Given the description of an element on the screen output the (x, y) to click on. 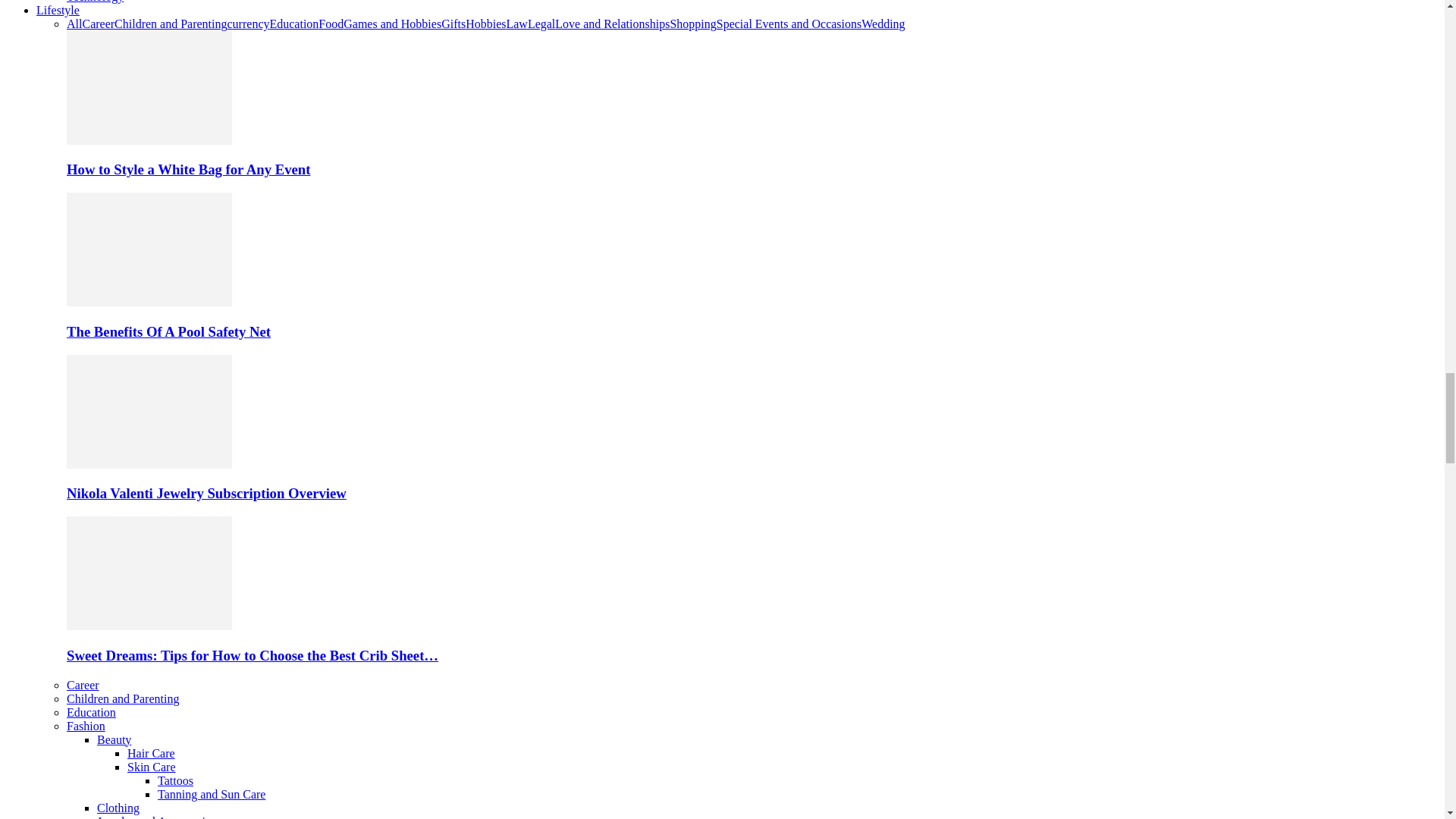
How to Style a White Bag for Any Event (148, 140)
How to Style a White Bag for Any Event (188, 169)
How to Style a White Bag for Any Event (148, 87)
